Given the description of an element on the screen output the (x, y) to click on. 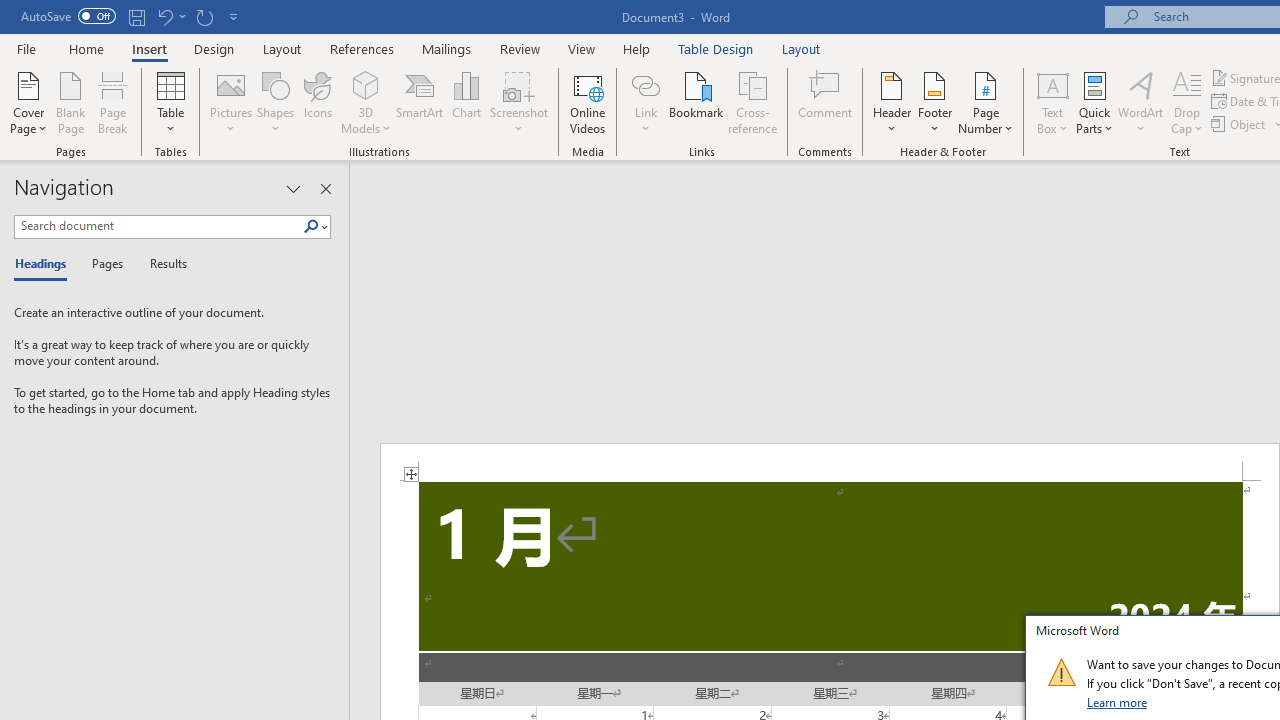
Link (645, 102)
Table Design (715, 48)
Undo Increase Indent (170, 15)
Undo Increase Indent (164, 15)
Screenshot (518, 102)
3D Models (366, 102)
Table (170, 102)
Footer (934, 102)
WordArt (1141, 102)
